Given the description of an element on the screen output the (x, y) to click on. 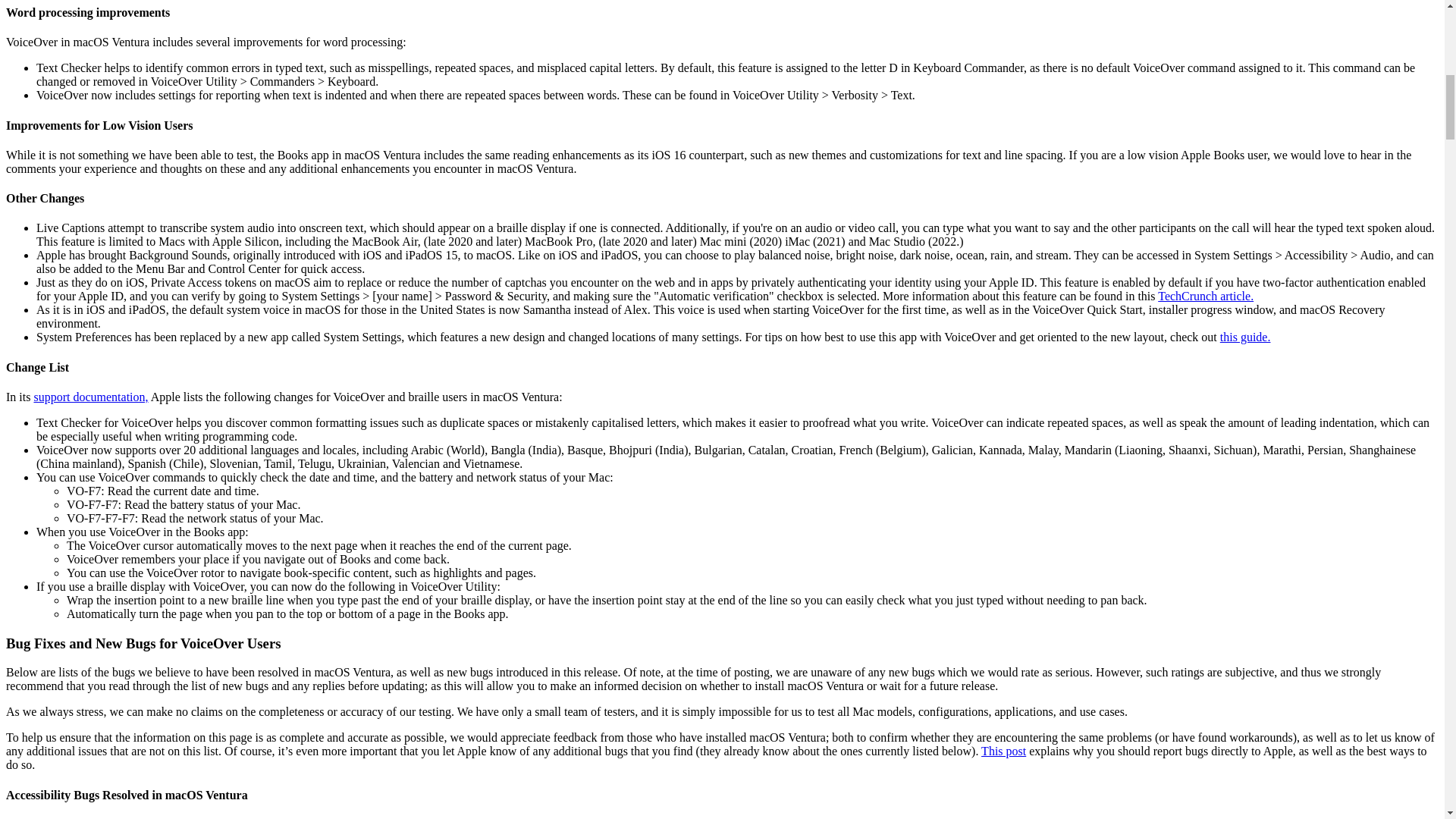
this guide. (1245, 336)
This post (1003, 750)
TechCrunch article. (1205, 295)
support documentation, (90, 396)
